Given the description of an element on the screen output the (x, y) to click on. 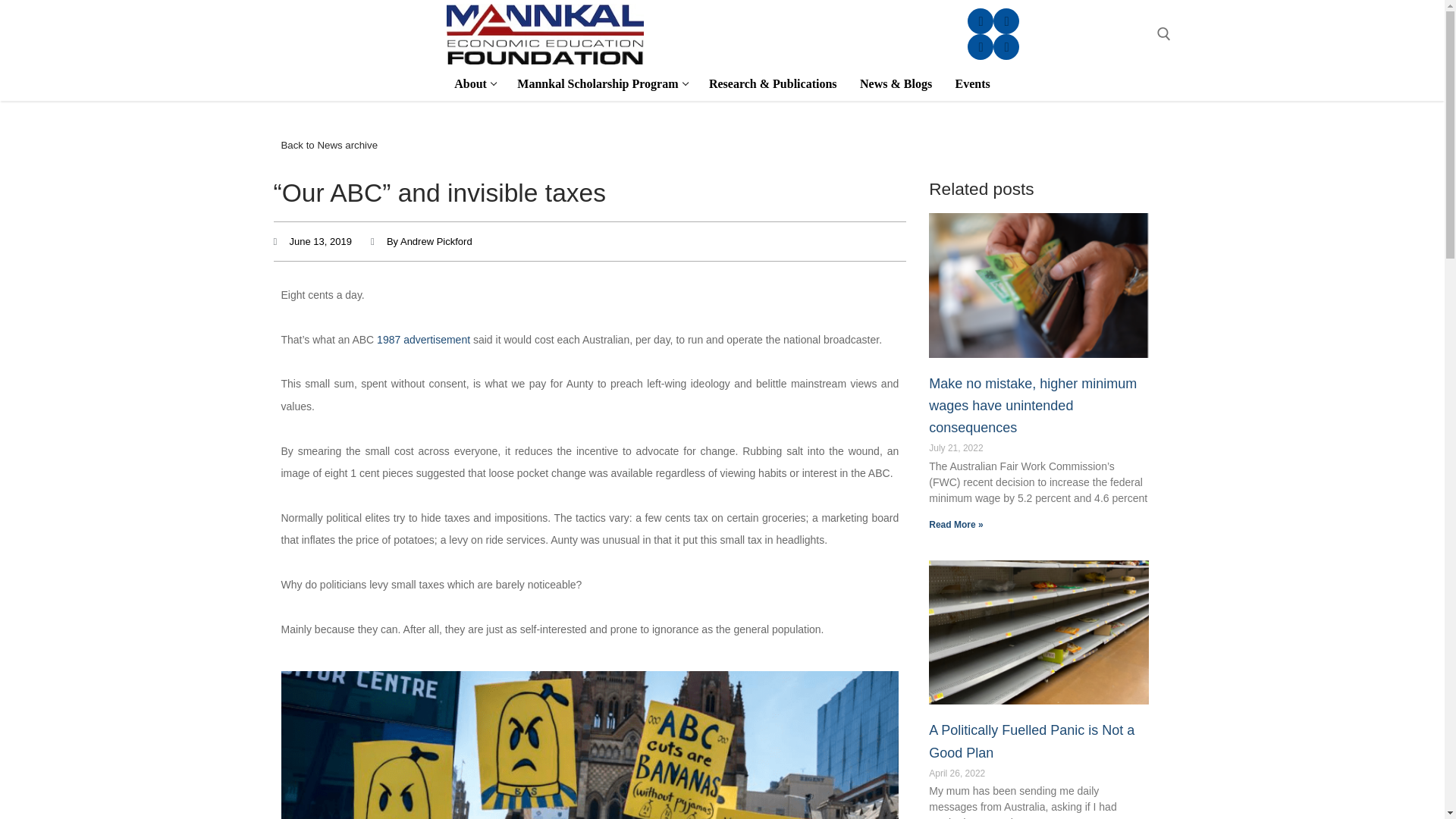
Youtube (980, 47)
Instagram (980, 21)
LinkedIn (1006, 47)
Facebook (1006, 21)
Events (600, 83)
